Given the description of an element on the screen output the (x, y) to click on. 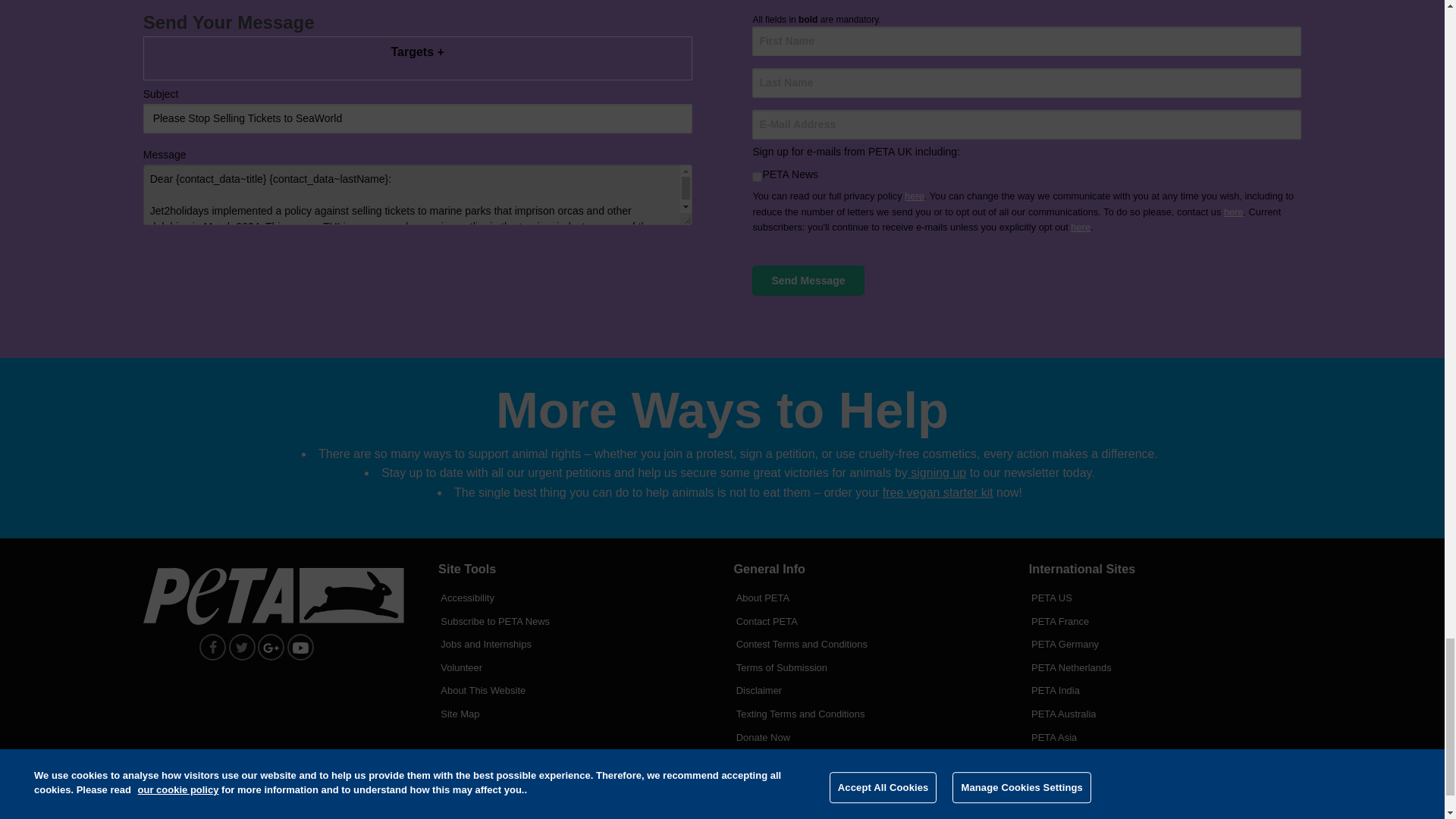
PETA India (1165, 686)
Jobs and Internships (574, 639)
Subscribe to PETA News (574, 616)
About This Website (574, 686)
free vegan starter kit (937, 492)
here (1233, 211)
Y (756, 176)
Donation Frequently Asked Questions (869, 779)
Contest Terms and Conditions (869, 639)
Site Map (574, 709)
